Given the description of an element on the screen output the (x, y) to click on. 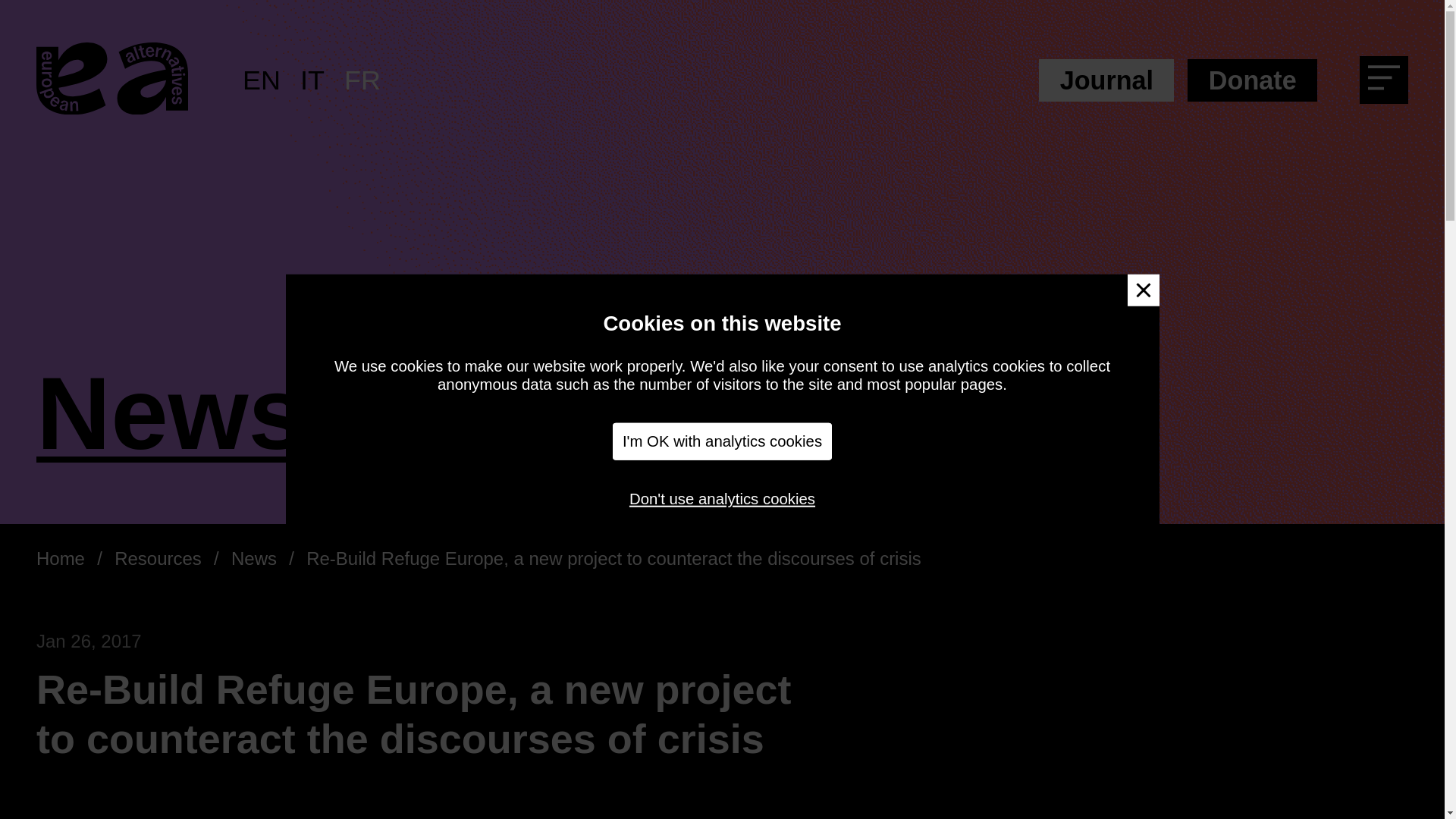
Dismiss message (1142, 290)
Journal (1106, 79)
FR (361, 79)
I'm OK with analytics cookies (722, 441)
Menu (1389, 82)
EN (262, 79)
Don't use analytics cookies (721, 498)
EN (262, 79)
FR (361, 79)
Donate (1252, 79)
Go to the European Alternatives home page (111, 79)
